Given the description of an element on the screen output the (x, y) to click on. 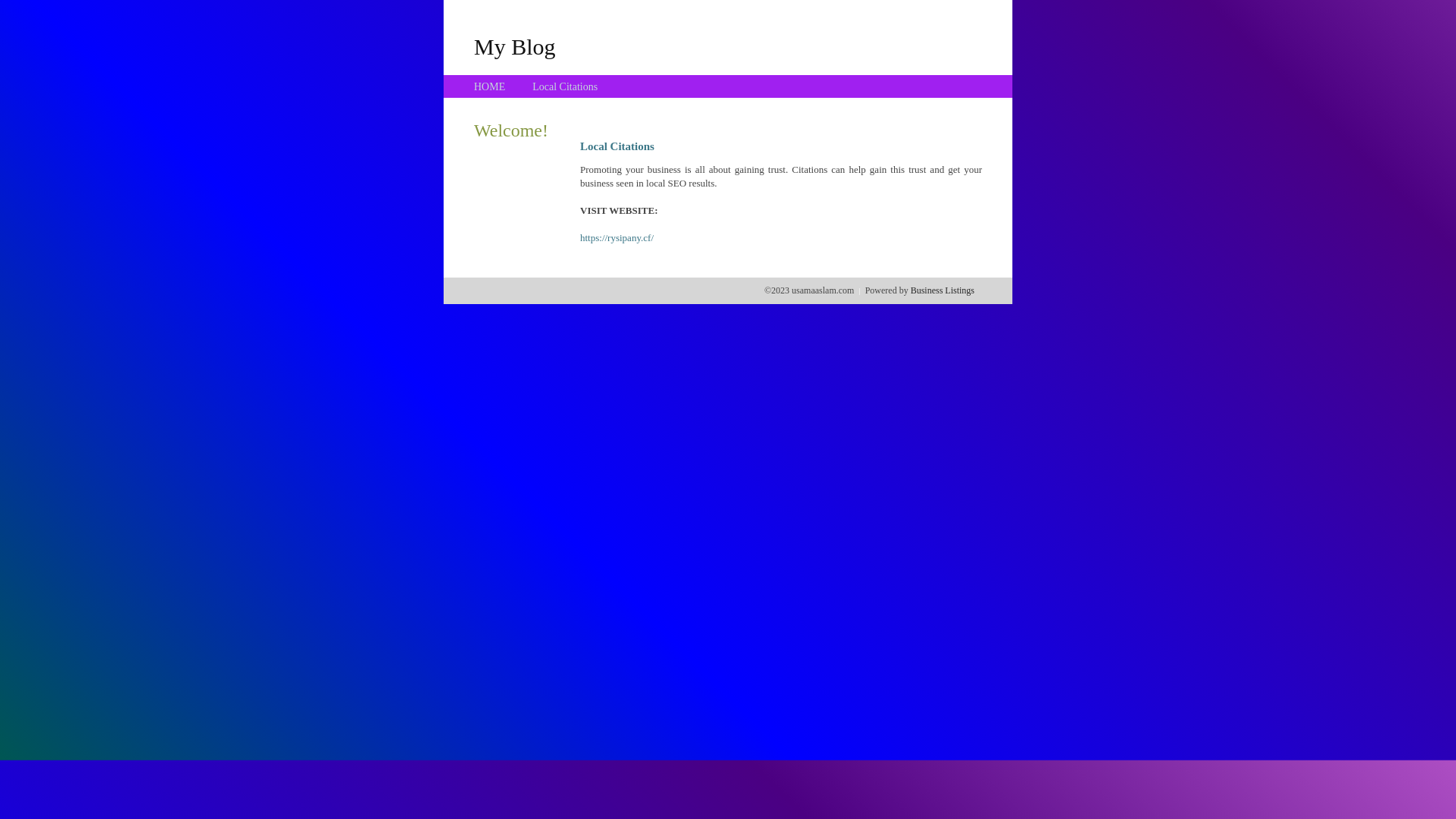
My Blog Element type: text (514, 46)
Local Citations Element type: text (564, 86)
Business Listings Element type: text (942, 290)
https://rysipany.cf/ Element type: text (616, 237)
HOME Element type: text (489, 86)
